Given the description of an element on the screen output the (x, y) to click on. 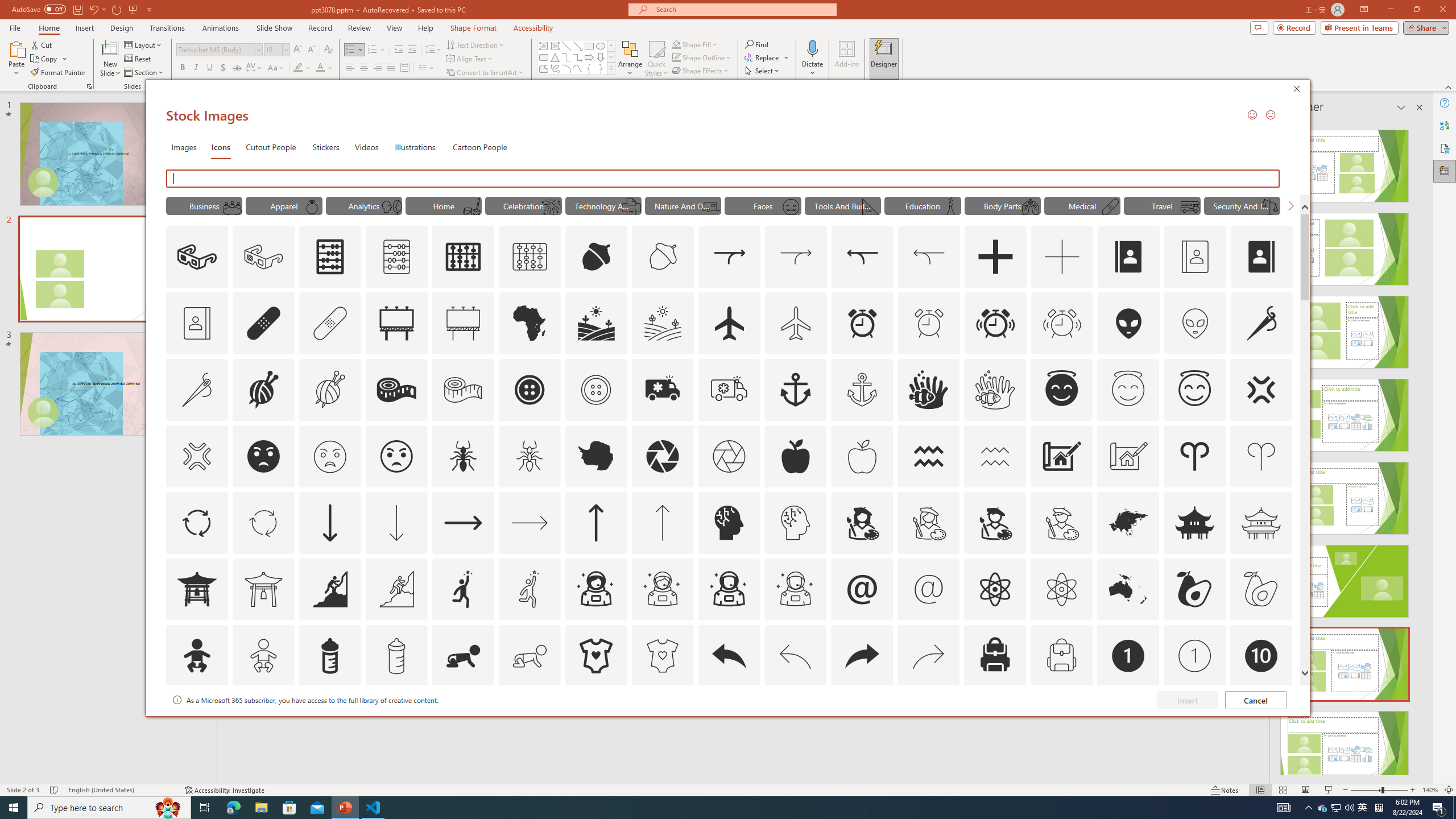
AutomationID: Icons_Add_M (1062, 256)
"Celebration" Icons. (523, 205)
AutomationID: Icons_Badge7_M (995, 721)
Shadow (223, 67)
AutomationID: Icons_BabyCrawling (462, 655)
AutomationID: Icons_Antarctica (595, 455)
"Travel" Icons. (1162, 205)
AutomationID: Icons_Atom_M (1061, 588)
Send a Frown (1269, 114)
